Given the description of an element on the screen output the (x, y) to click on. 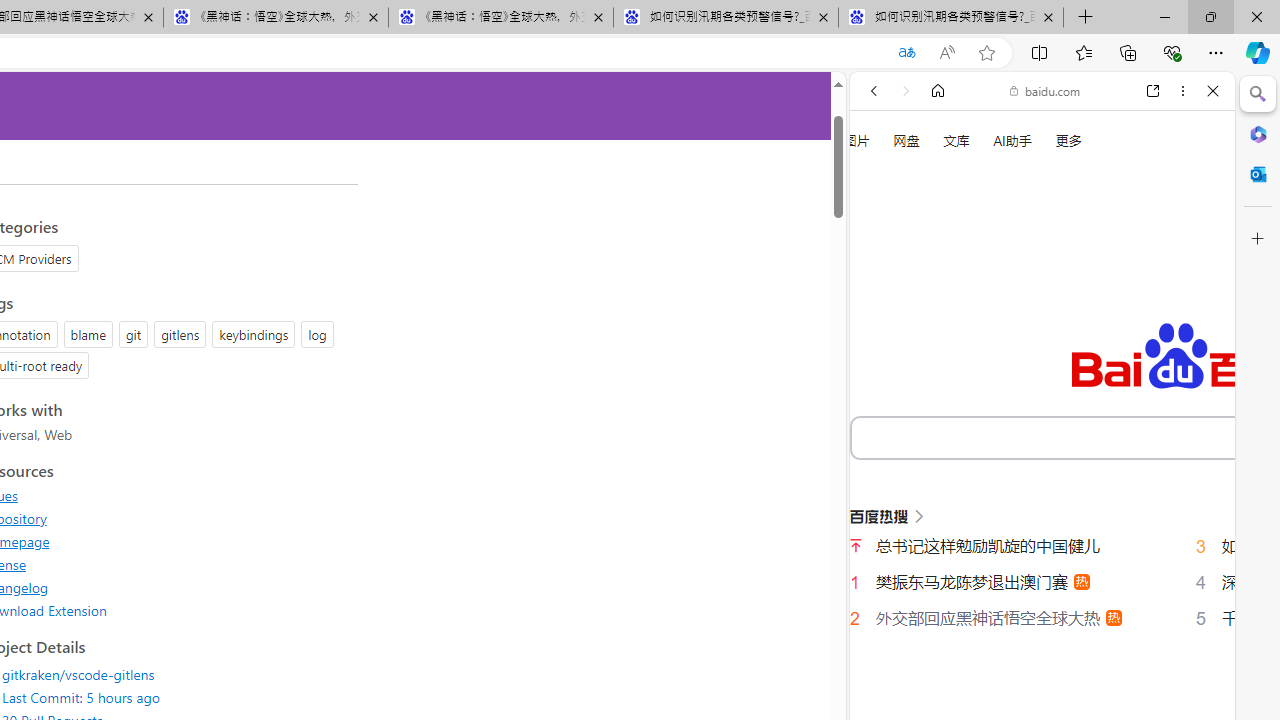
Translated (906, 53)
English (US) (1042, 579)
